Given the description of an element on the screen output the (x, y) to click on. 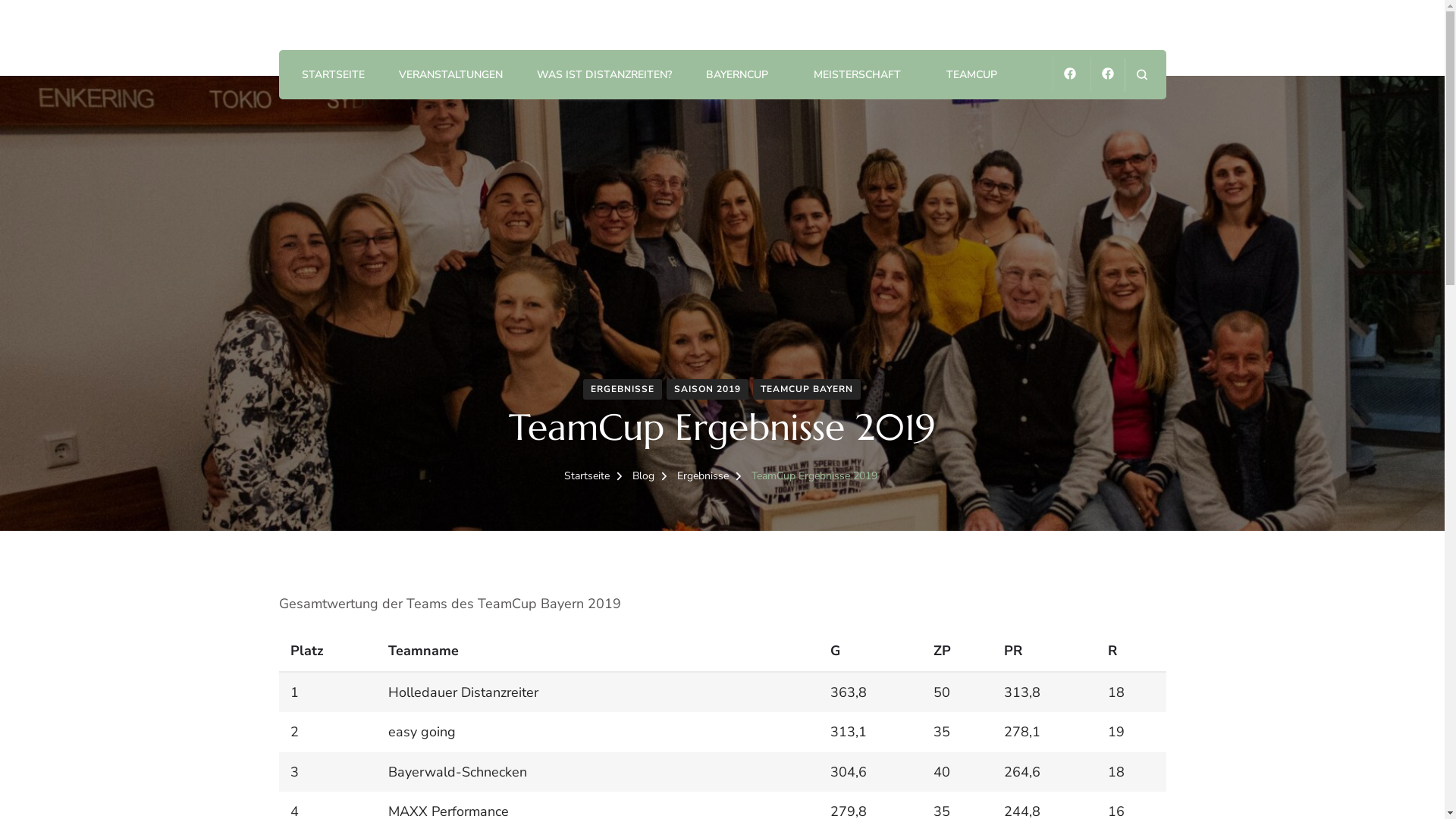
MEISTERSCHAFT Element type: text (856, 75)
Blog Element type: text (644, 475)
Distanzreiten Bayern Element type: text (385, 45)
Ergebnisse Element type: text (703, 475)
WAS IST DISTANZREITEN? Element type: text (603, 75)
STARTSEITE Element type: text (332, 75)
ERGEBNISSE Element type: text (621, 389)
BAYERNCUP Element type: text (736, 75)
Startseite Element type: text (586, 475)
VERANSTALTUNGEN Element type: text (450, 75)
TEAMCUP BAYERN Element type: text (805, 389)
TEAMCUP Element type: text (971, 75)
SAISON 2019 Element type: text (706, 389)
TeamCup Ergebnisse 2019 Element type: text (813, 475)
